Given the description of an element on the screen output the (x, y) to click on. 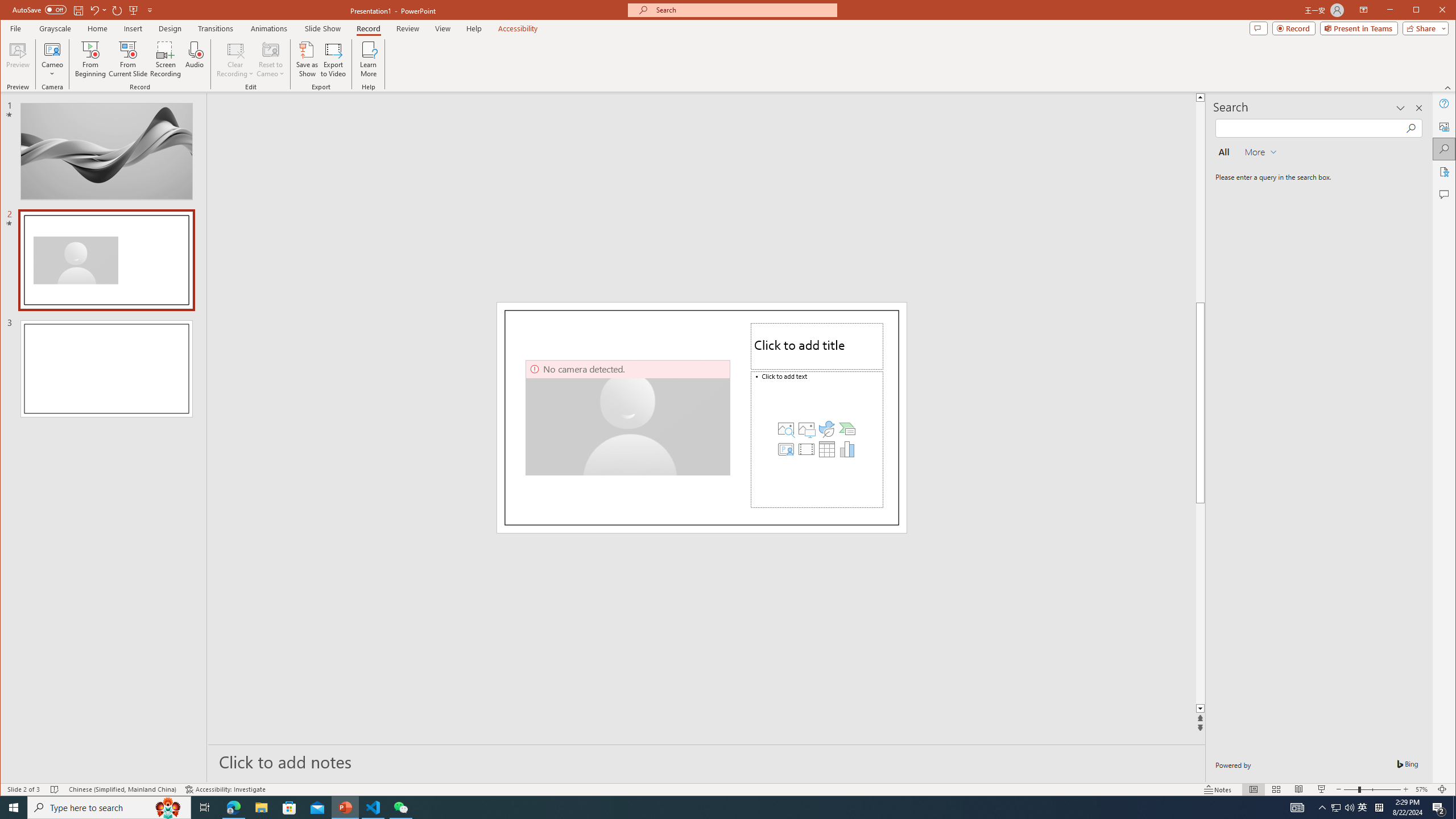
Decorative Locked (701, 417)
